Given the description of an element on the screen output the (x, y) to click on. 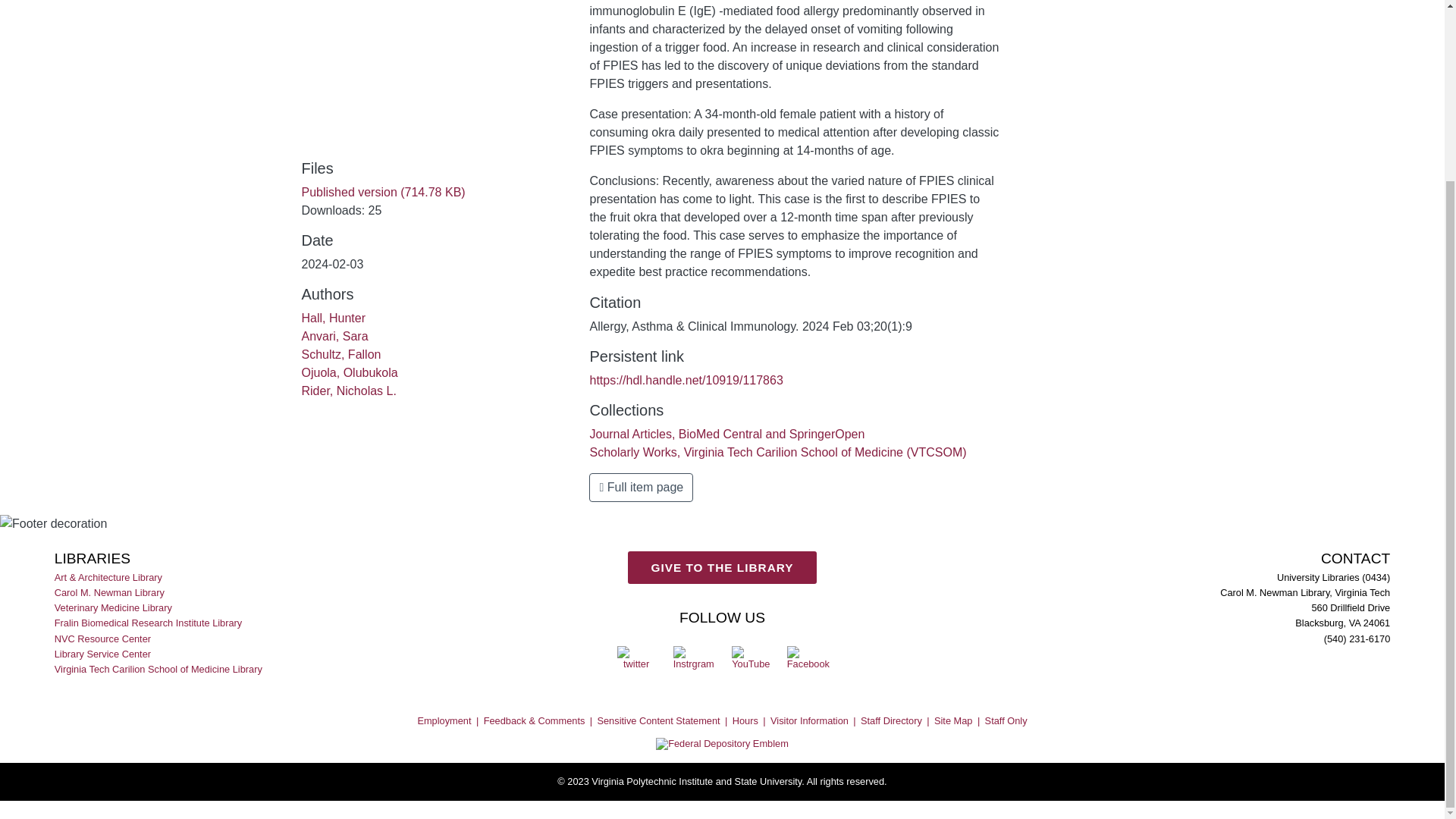
Hall, Hunter (333, 318)
Full item page (641, 487)
Journal Articles, BioMed Central and SpringerOpen (726, 433)
Anvari, Sara (334, 336)
Rider, Nicholas L. (348, 390)
Carol M. Newman Library (111, 592)
Schultz, Fallon (341, 354)
Ojuola, Olubukola (349, 372)
